Given the description of an element on the screen output the (x, y) to click on. 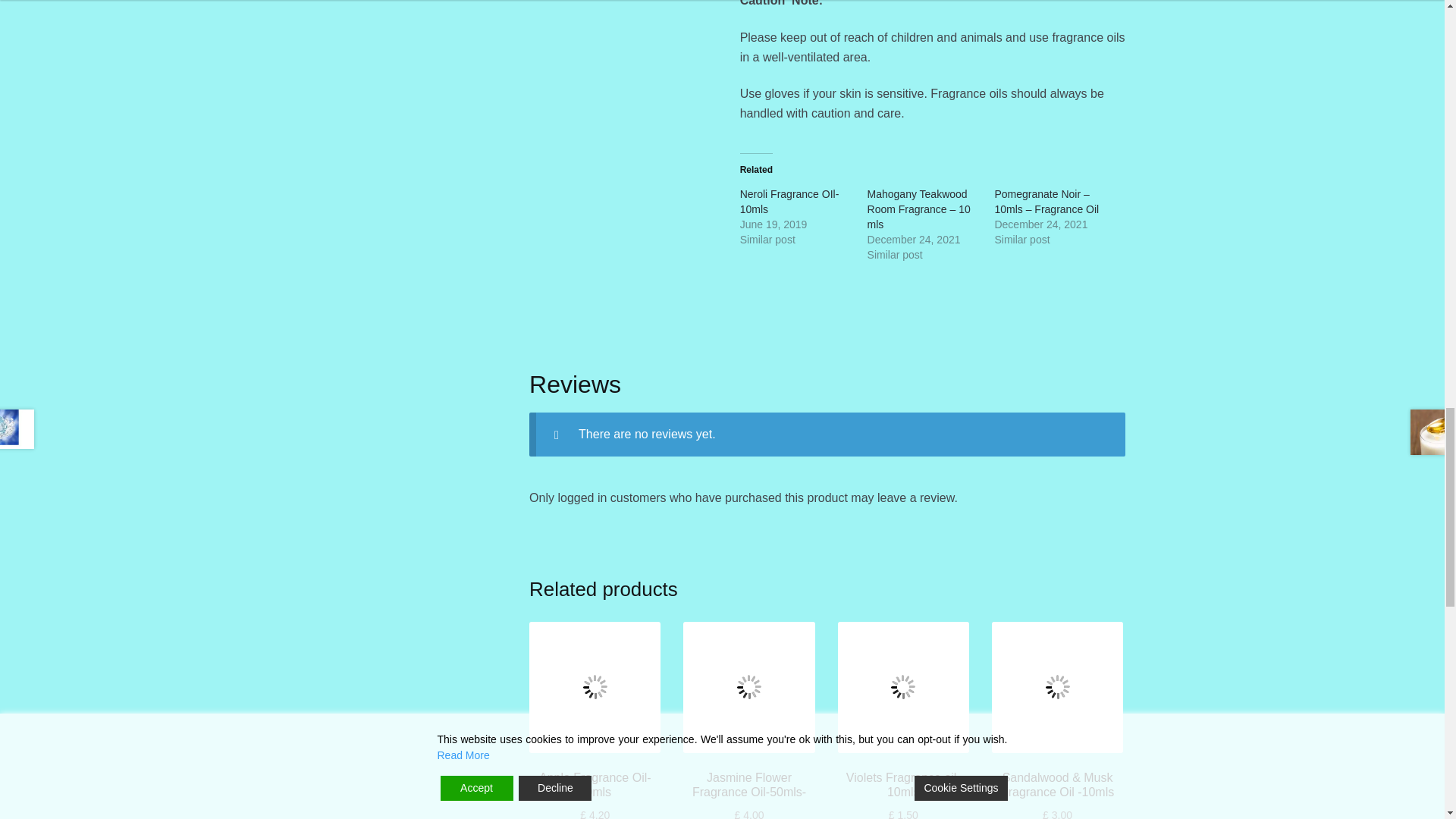
Jasmine Flower Fragrance Oil-50mls- (747, 686)
Neroli Fragrance OIl-10mls (789, 201)
Apple Fragrance Oil-50mls (595, 686)
